Given the description of an element on the screen output the (x, y) to click on. 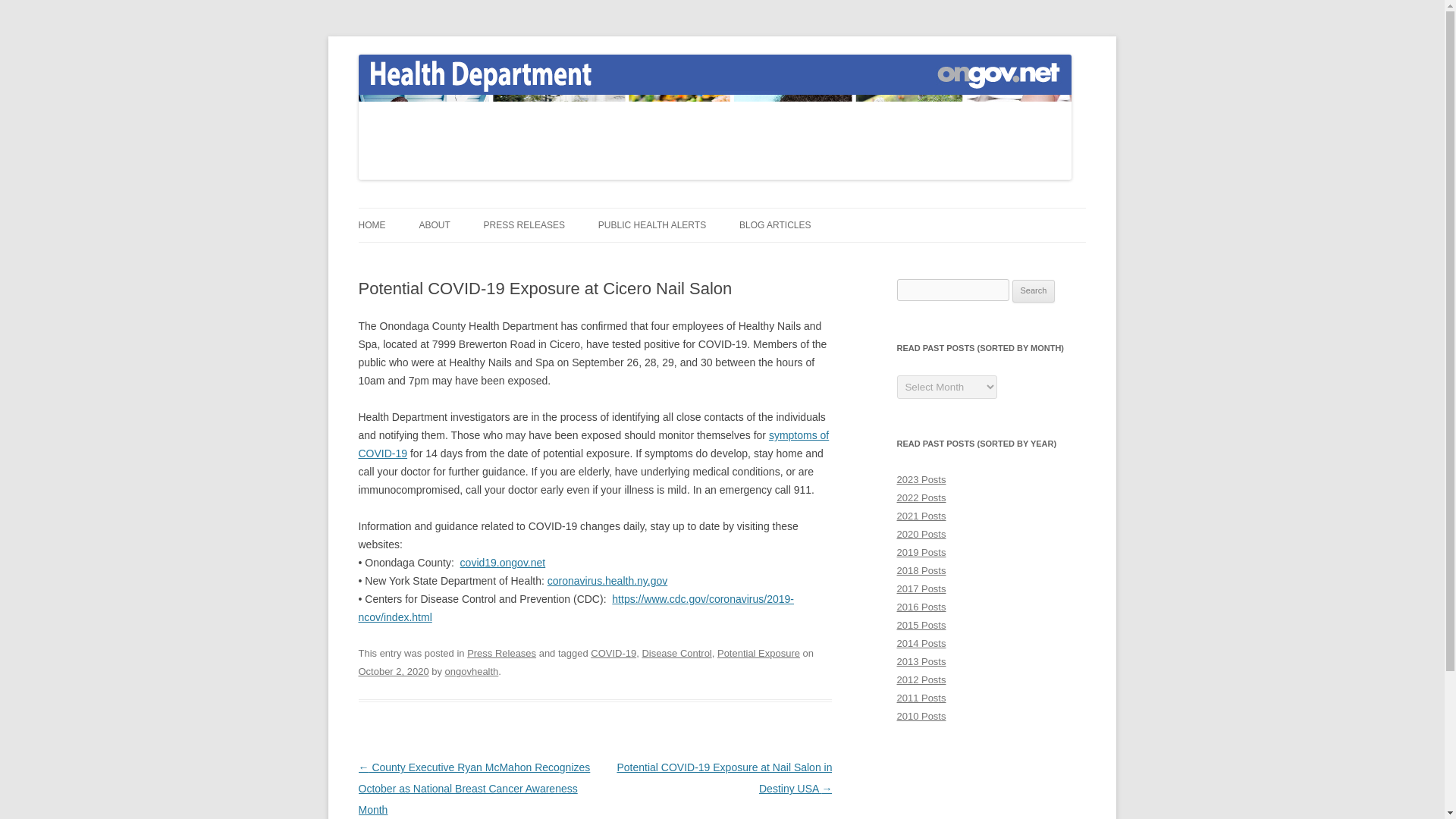
HEALTH NEWS HOME (433, 256)
coronavirus.health.ny.gov (607, 580)
2016 Posts (920, 606)
Disease Control (676, 653)
2018 Posts (920, 570)
Search (1033, 291)
COVID-19 (613, 653)
Search (1033, 291)
2020 Posts (920, 533)
covid19.ongov.net (503, 562)
